Given the description of an element on the screen output the (x, y) to click on. 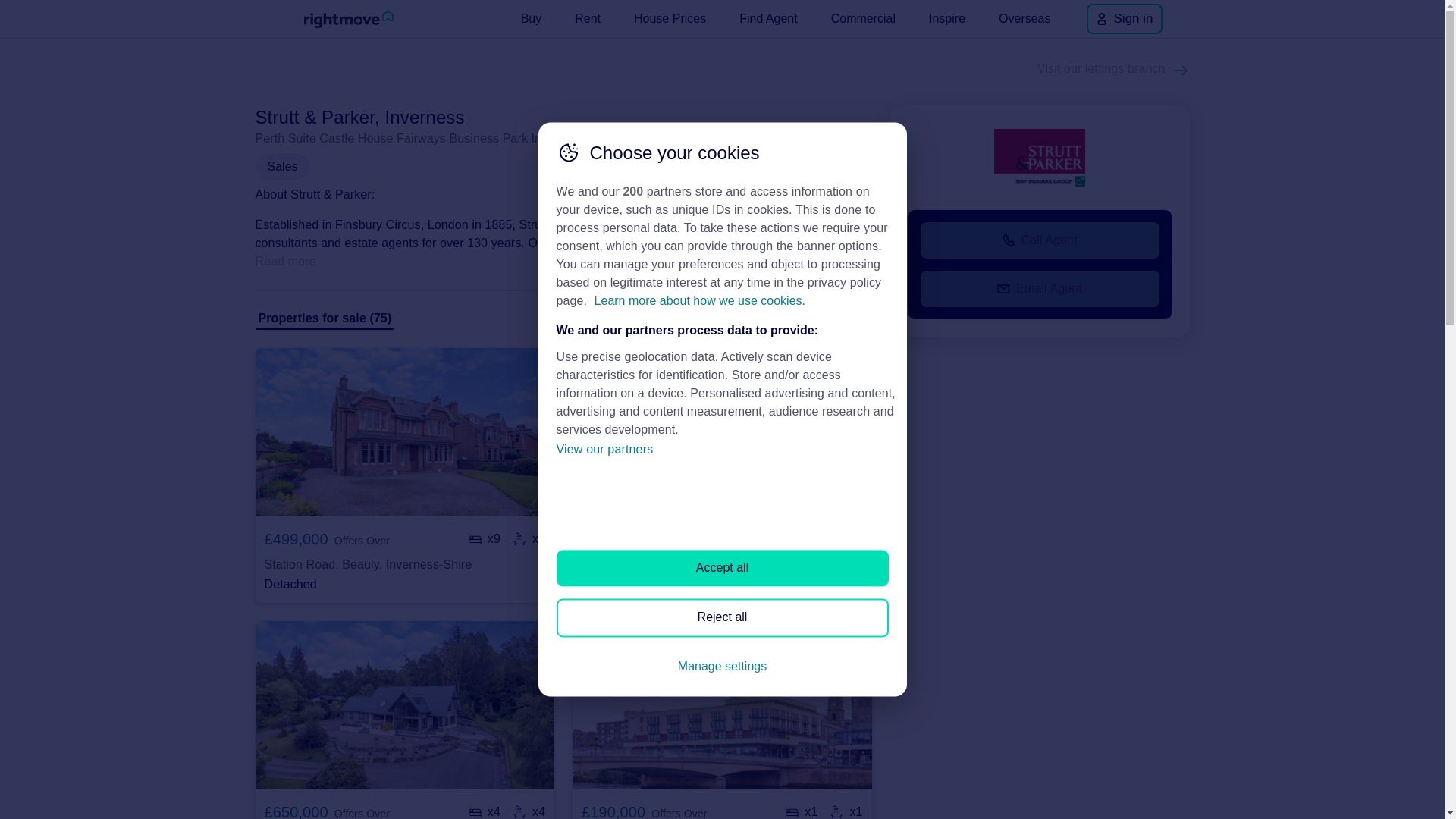
Find Agent (768, 18)
Rent (588, 18)
Commercial (863, 18)
Buy (531, 18)
House Prices (669, 18)
Overseas (1024, 18)
Inspire (947, 18)
